Given the description of an element on the screen output the (x, y) to click on. 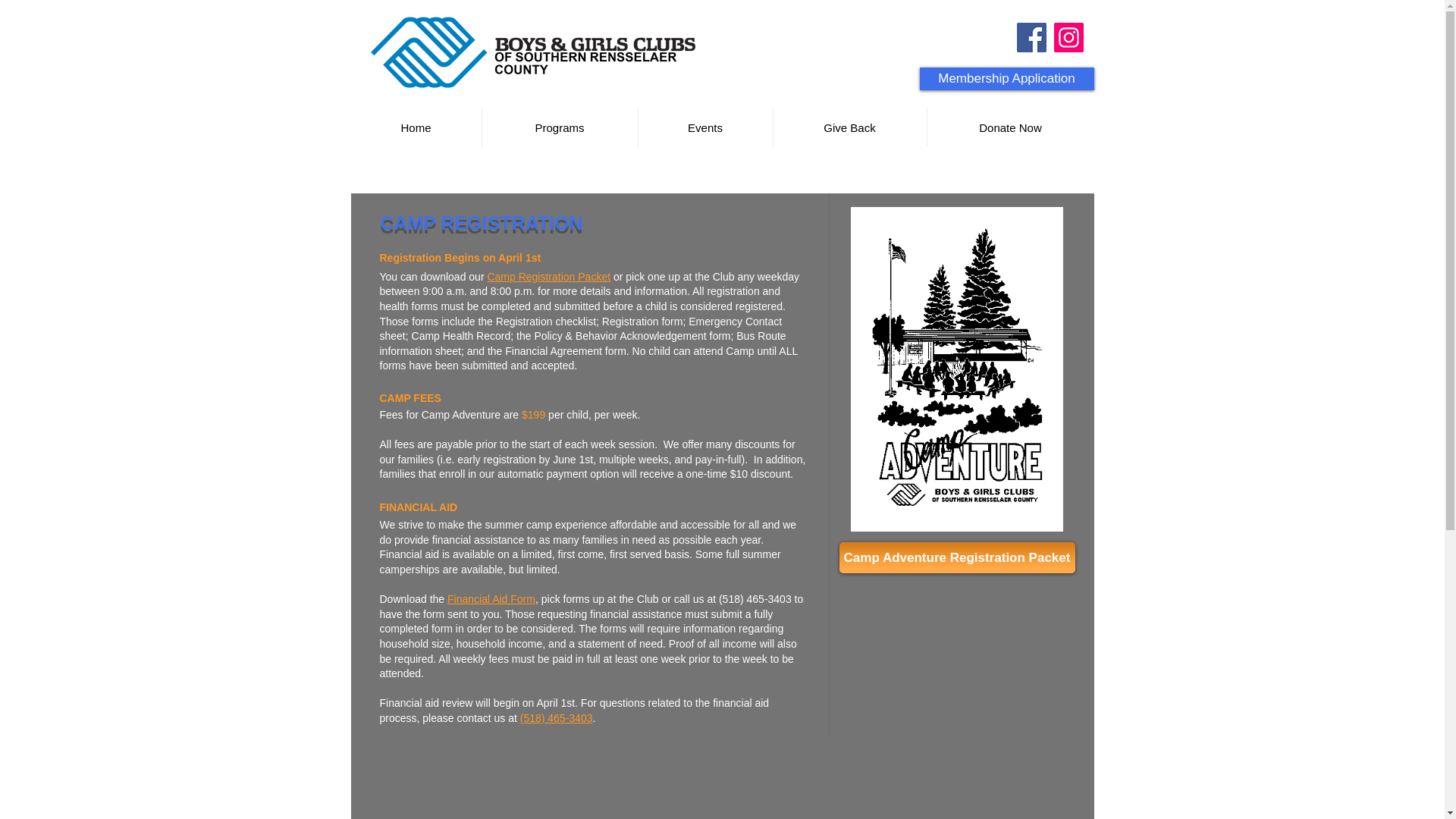
Home (415, 127)
Give Back (849, 127)
Programs (559, 127)
Financial Aid Form (490, 598)
Donate Now (1009, 127)
Camp Adventure Registration Packet (956, 557)
Membership Application (1005, 78)
Events (706, 127)
Camp Registration Packet (548, 276)
